Given the description of an element on the screen output the (x, y) to click on. 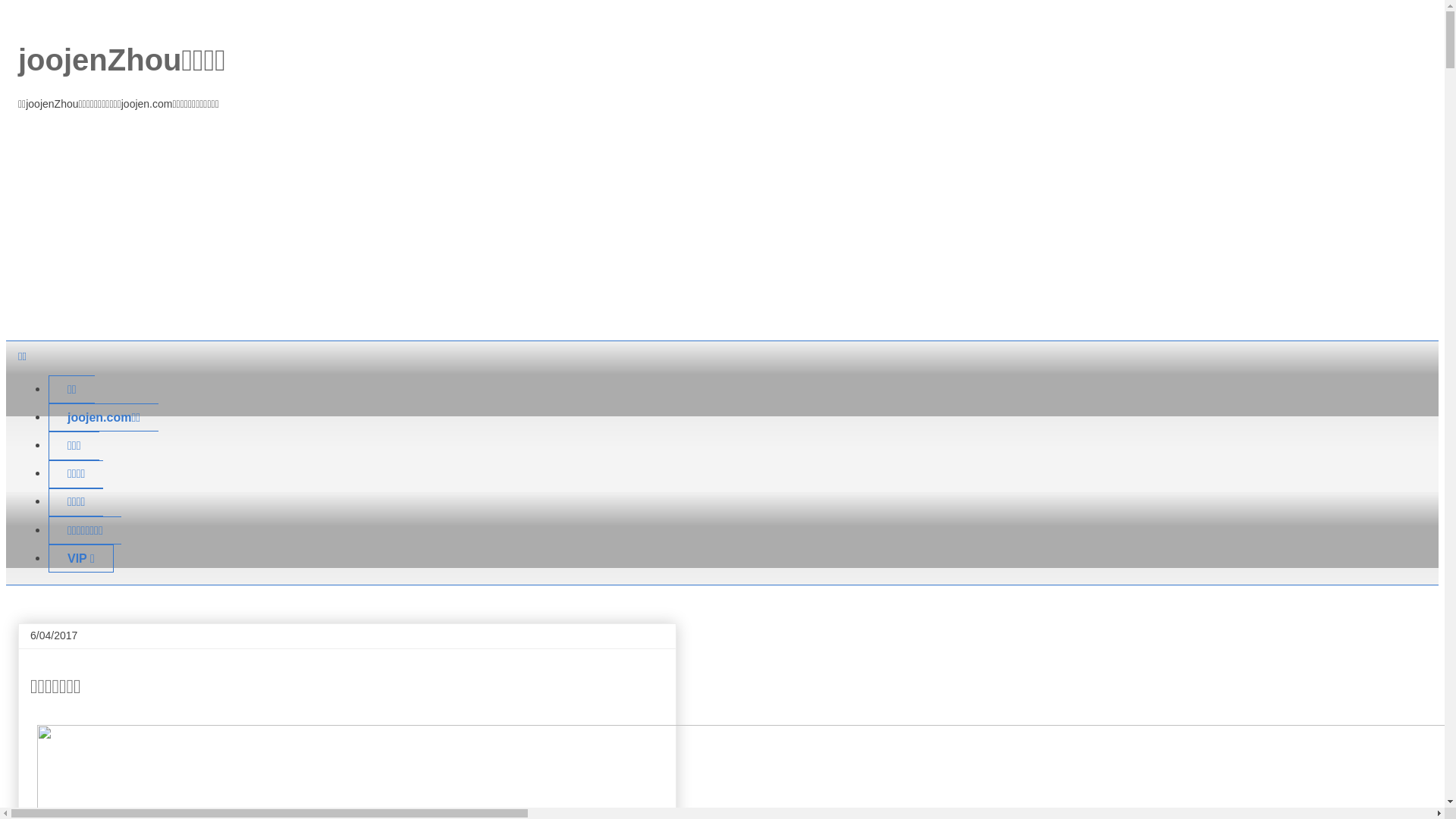
Advertisement Element type: hover (721, 226)
